Given the description of an element on the screen output the (x, y) to click on. 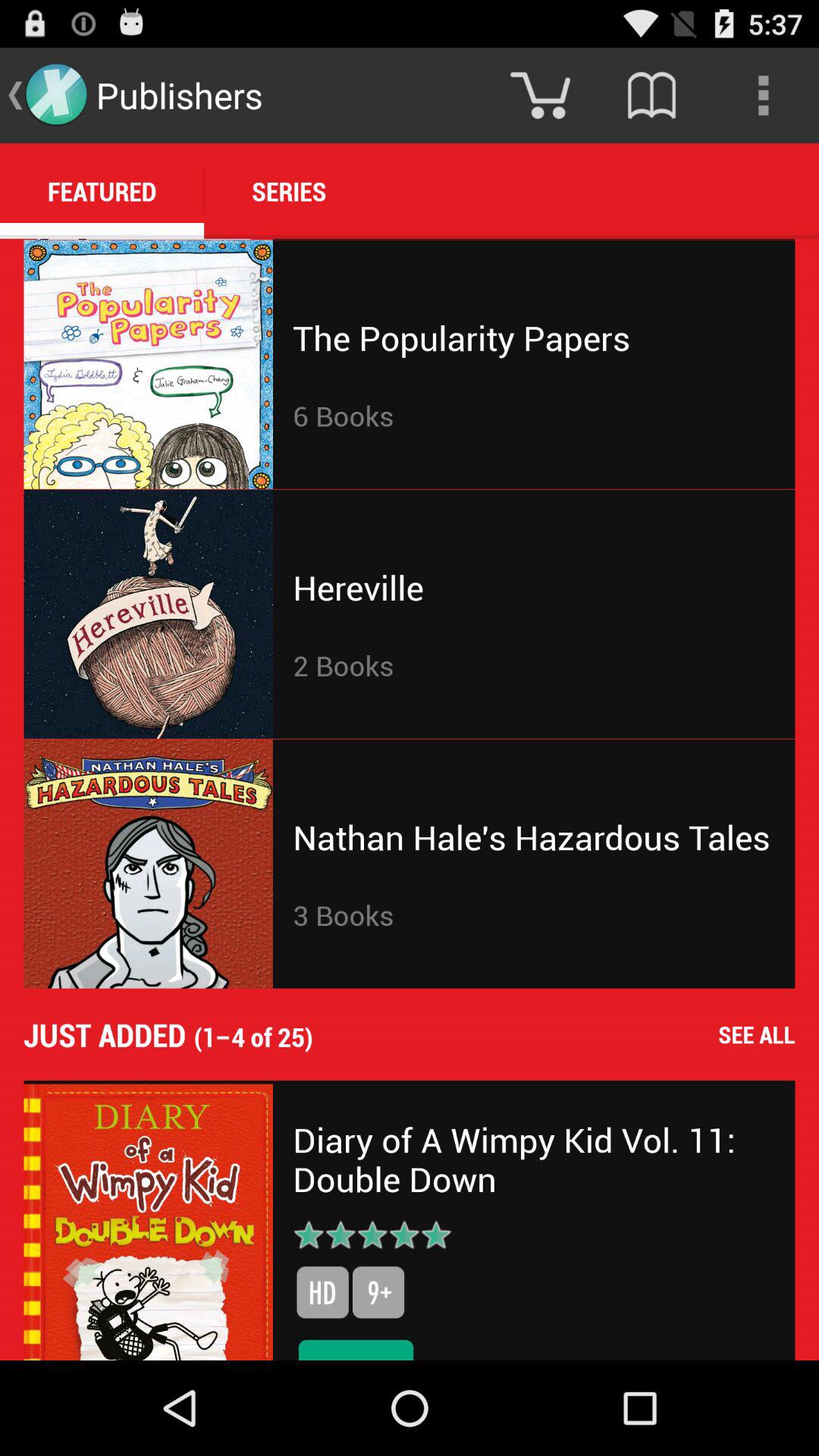
turn on icon next to the series icon (102, 190)
